Given the description of an element on the screen output the (x, y) to click on. 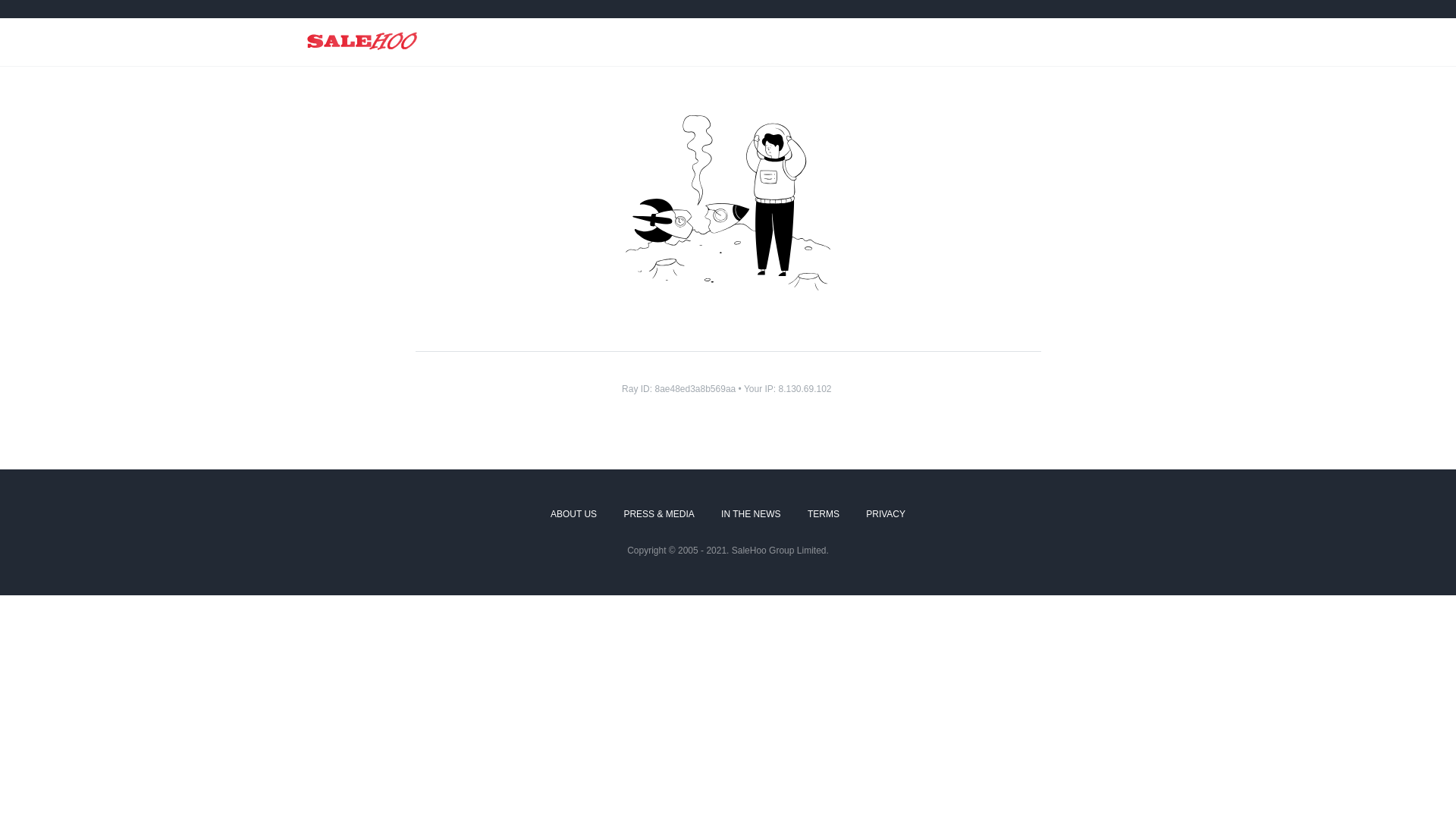
IN THE NEWS (750, 514)
PRIVACY (885, 514)
TERMS (824, 514)
ABOUT US (573, 514)
